Given the description of an element on the screen output the (x, y) to click on. 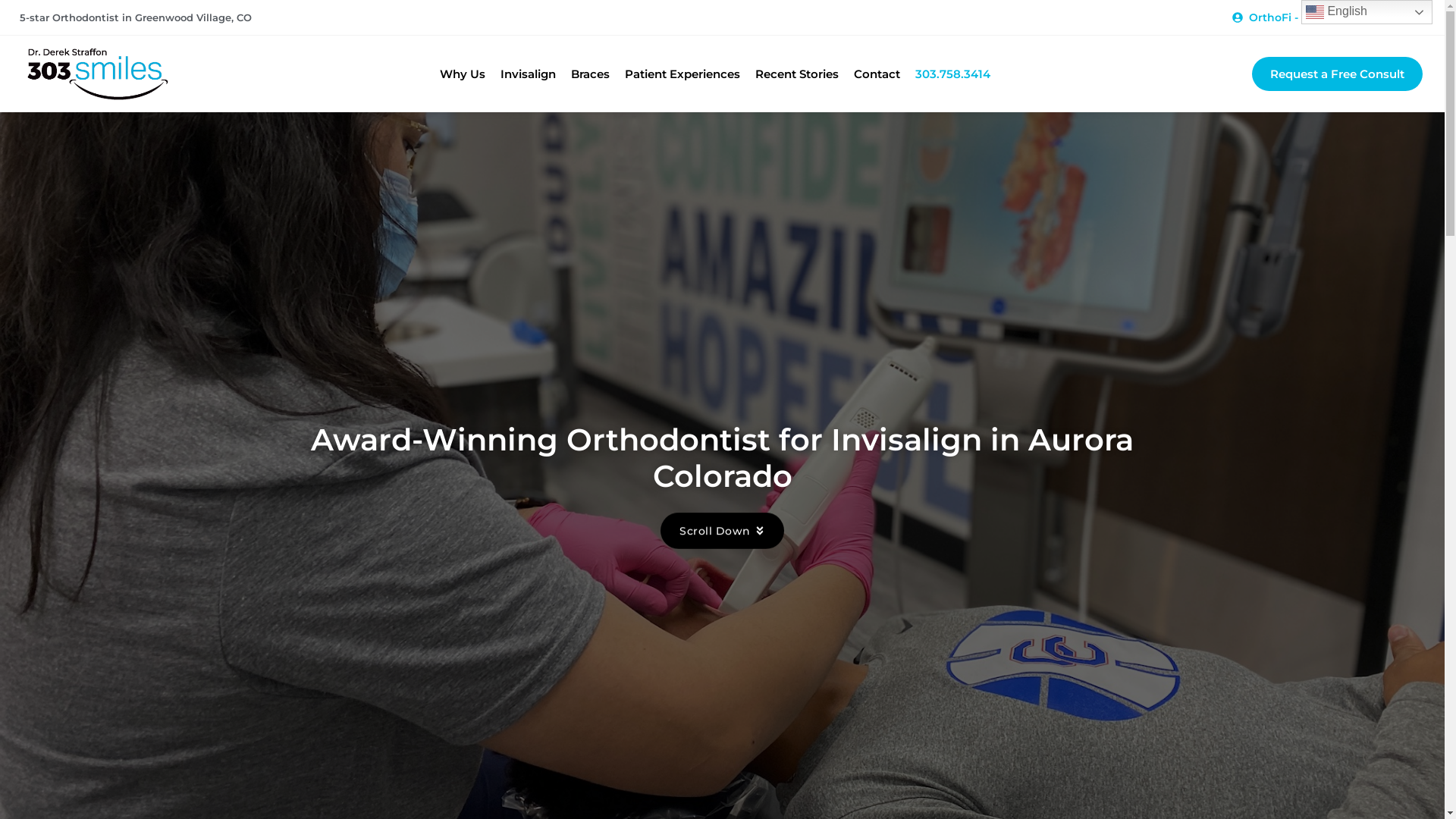
Request a Free Consult Element type: text (1337, 73)
OrthoFi - Patient Login Element type: text (1303, 17)
Patient Experiences Element type: text (682, 73)
Why Us Element type: text (462, 73)
Invisalign Element type: text (527, 73)
Braces Element type: text (589, 73)
303.758.3414 Element type: text (952, 73)
Recent Stories Element type: text (796, 73)
Contact Element type: text (876, 73)
Scroll Down Element type: text (722, 527)
English Element type: text (1366, 12)
